Given the description of an element on the screen output the (x, y) to click on. 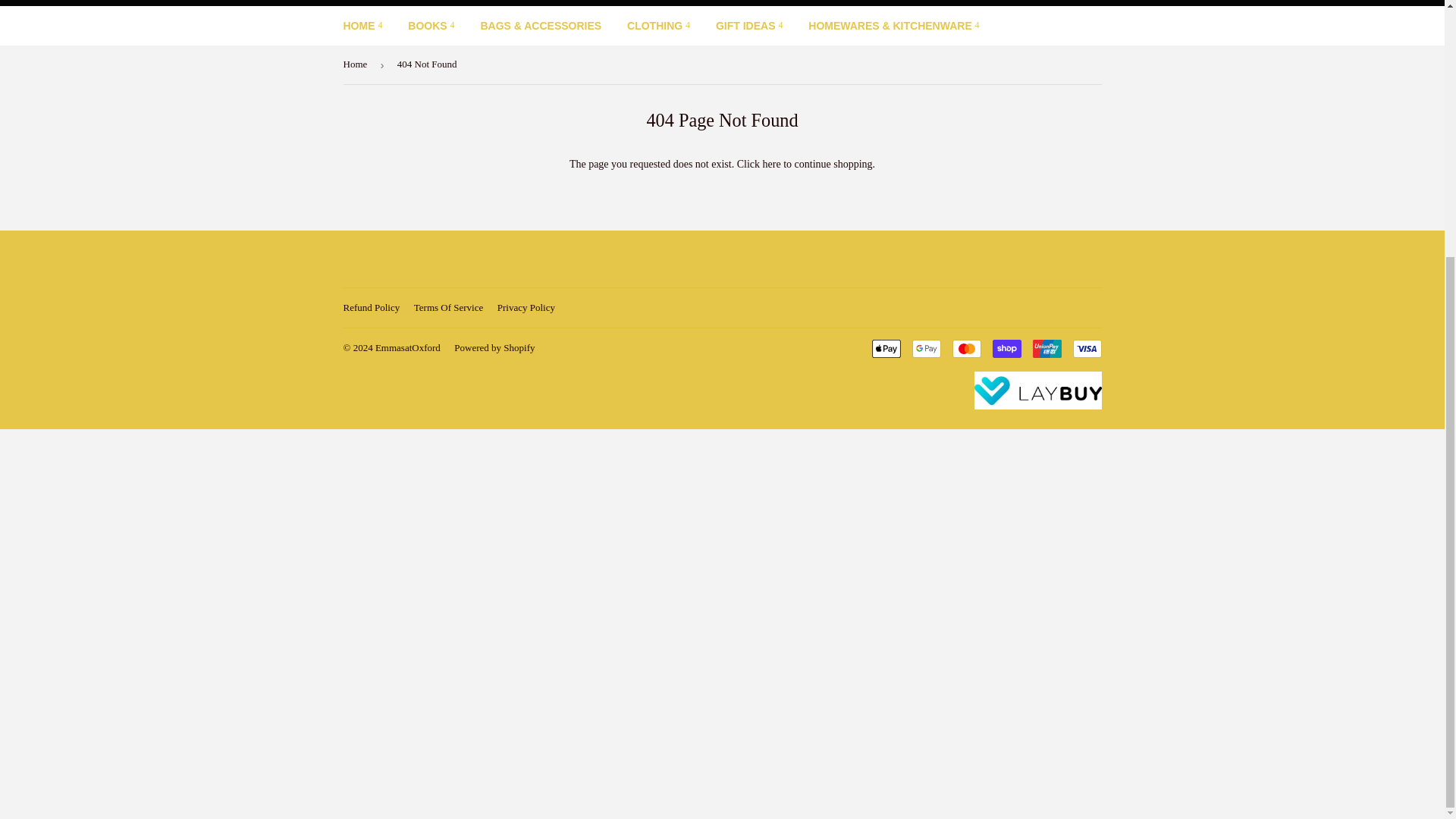
Google Pay (925, 348)
Mastercard (966, 348)
Shop Pay (1005, 348)
Apple Pay (886, 348)
Union Pay (1046, 348)
Visa (1085, 348)
